Given the description of an element on the screen output the (x, y) to click on. 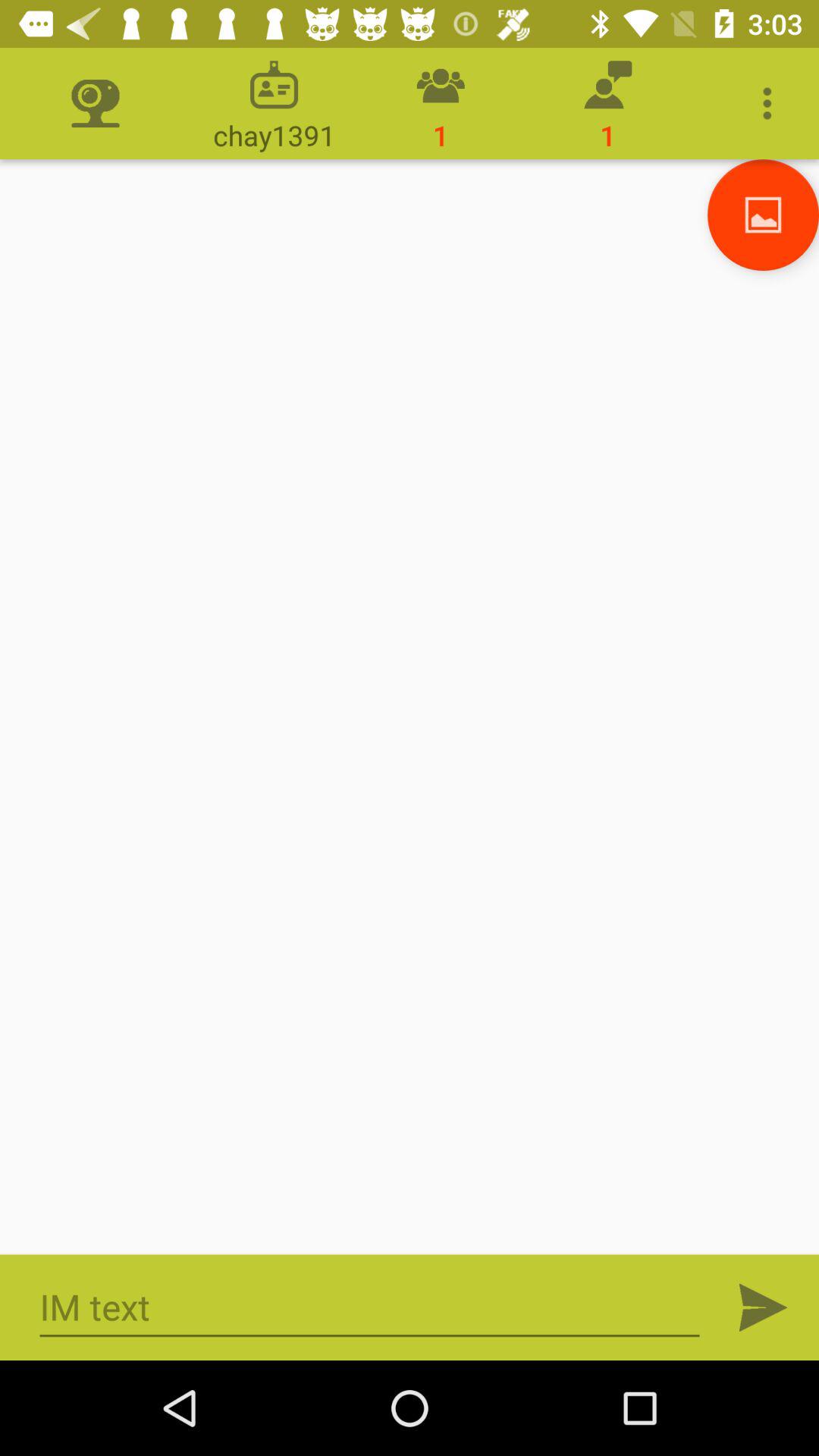
im (369, 1307)
